Given the description of an element on the screen output the (x, y) to click on. 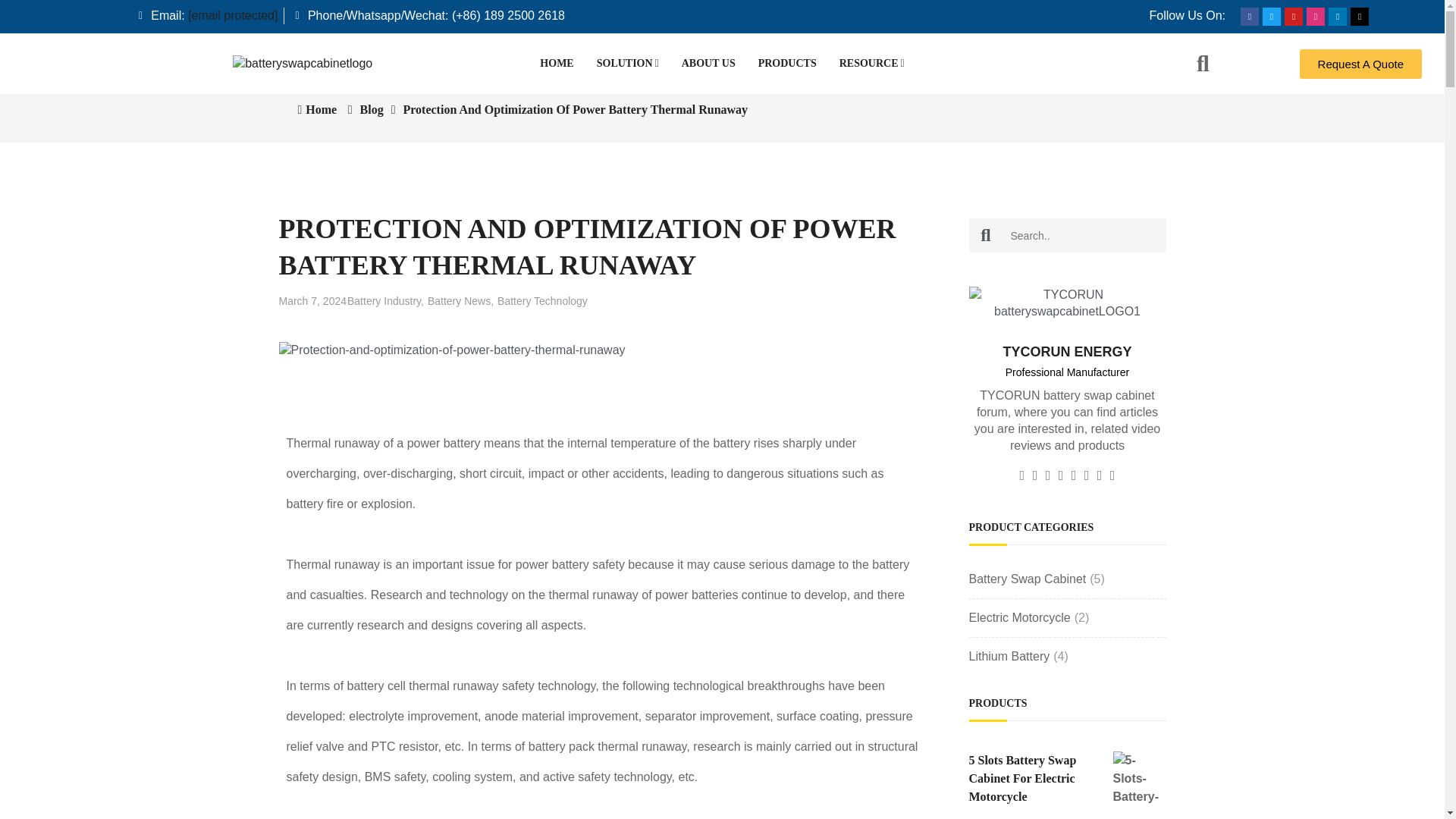
RESOURCE (871, 63)
ABOUT US (707, 63)
Battery Technology (542, 300)
PRODUCTS (787, 63)
Search (986, 235)
TYCORUN batteryswapcabinetLOGO1 (1067, 303)
HOME (556, 63)
Battery News (460, 300)
Request A Quote (1361, 62)
Battery Industry (385, 300)
SOLUTION (627, 63)
Home (316, 109)
